Given the description of an element on the screen output the (x, y) to click on. 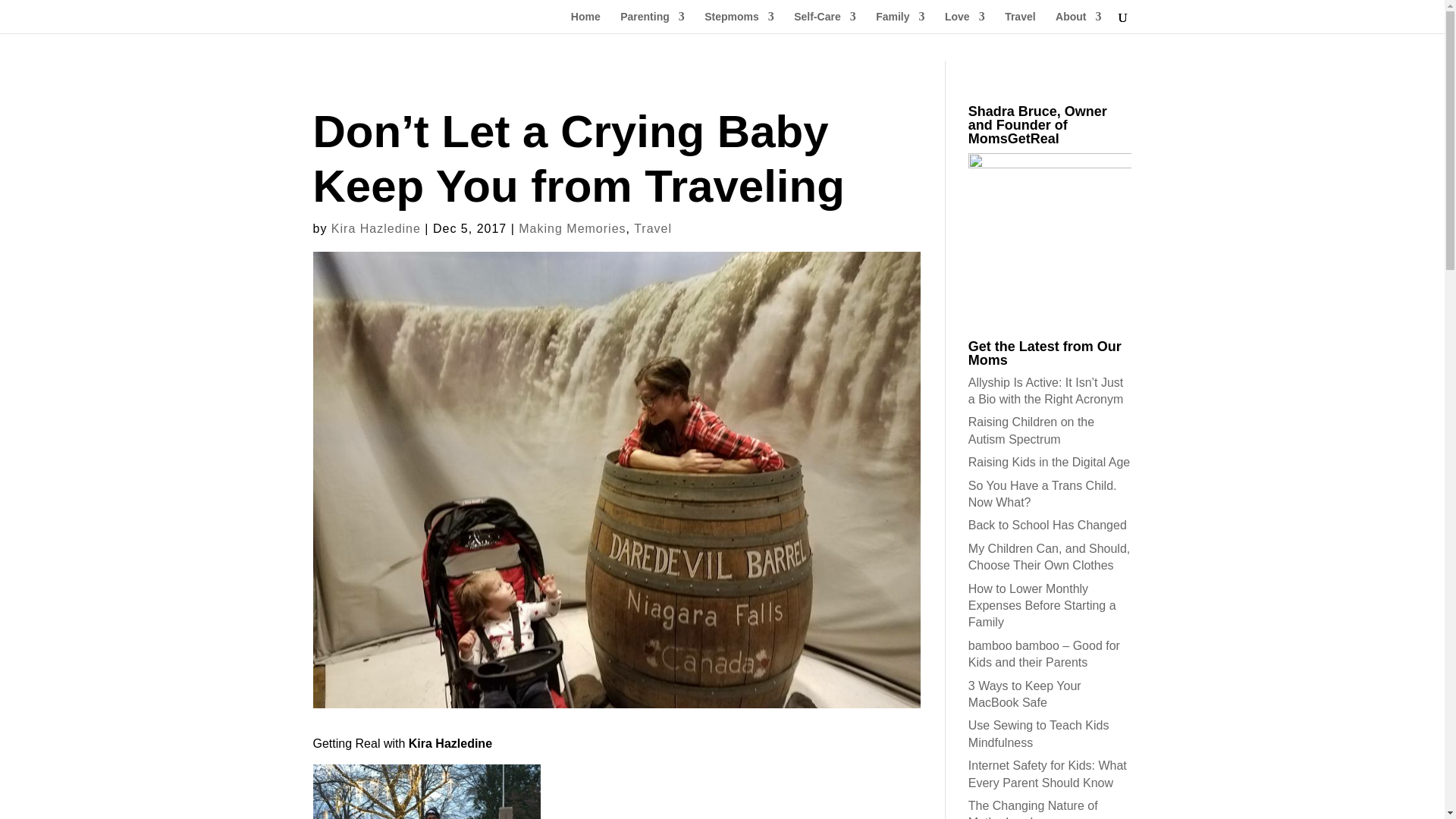
Stepmoms (739, 22)
Home (584, 22)
Self-Care (824, 22)
Shadra Bruce, Owner and Founder of MomsGetReal (1050, 234)
Posts by Kira Hazledine (375, 228)
Parenting (652, 22)
Love (964, 22)
Family (900, 22)
About (1077, 22)
Travel (1019, 22)
